Given the description of an element on the screen output the (x, y) to click on. 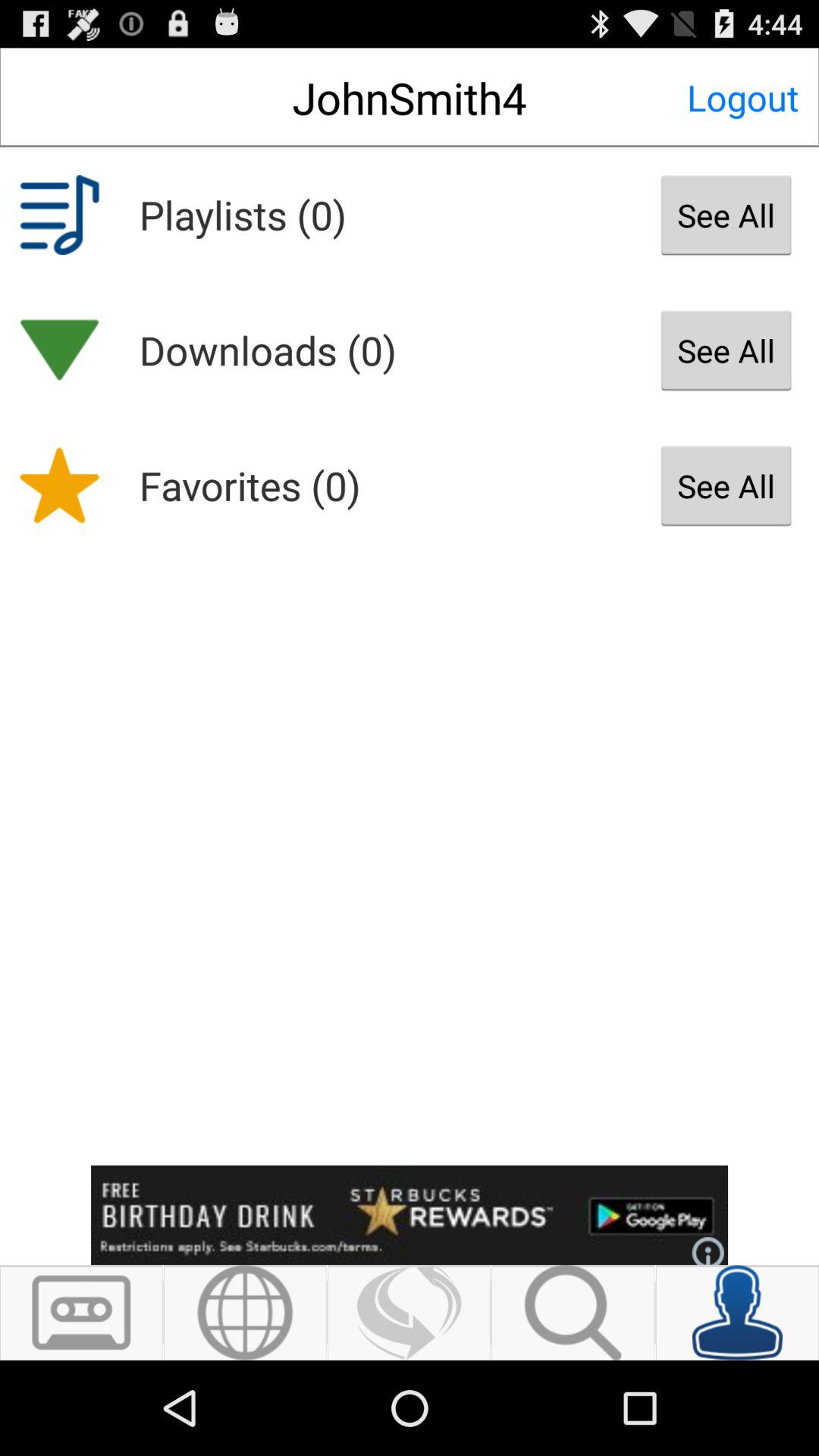
advertise banner (409, 1214)
